Given the description of an element on the screen output the (x, y) to click on. 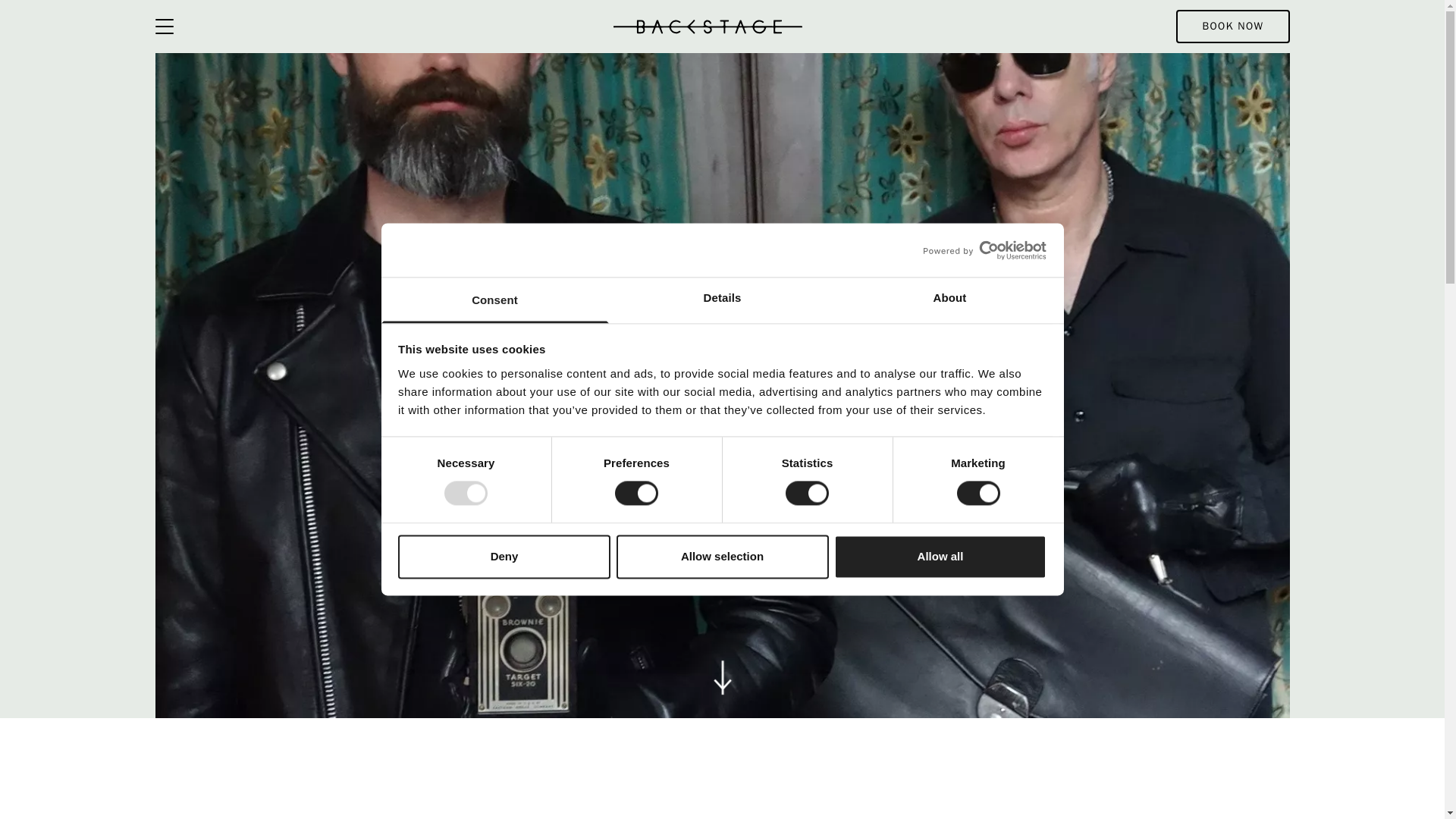
Toggle Menu (163, 26)
Details (721, 299)
Deny (503, 556)
Backstage (707, 26)
About (948, 299)
Consent (494, 299)
Scroll down (731, 669)
Allow selection (721, 556)
